Given the description of an element on the screen output the (x, y) to click on. 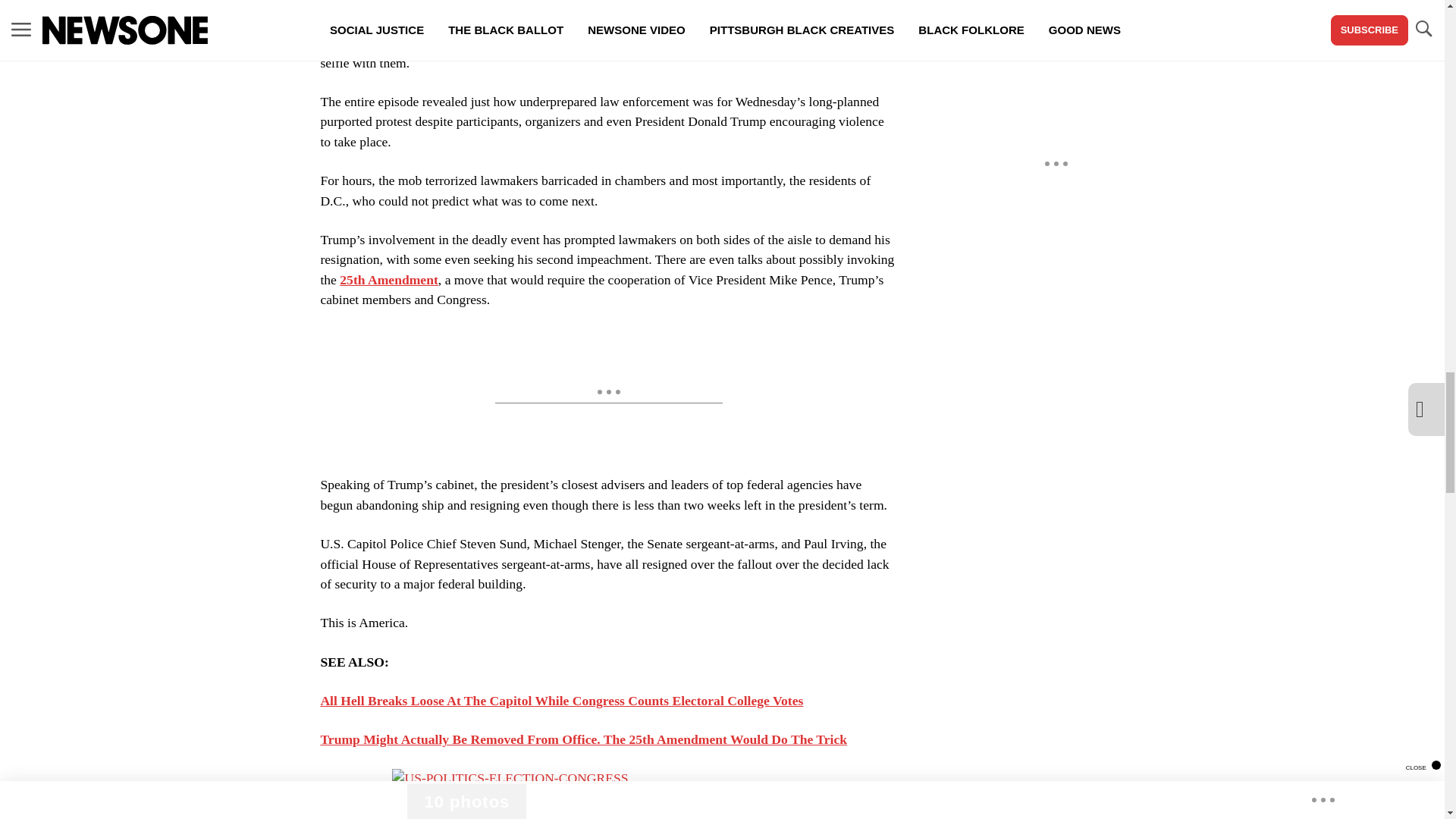
25th Amendment (388, 279)
Media Playlist (466, 801)
